Given the description of an element on the screen output the (x, y) to click on. 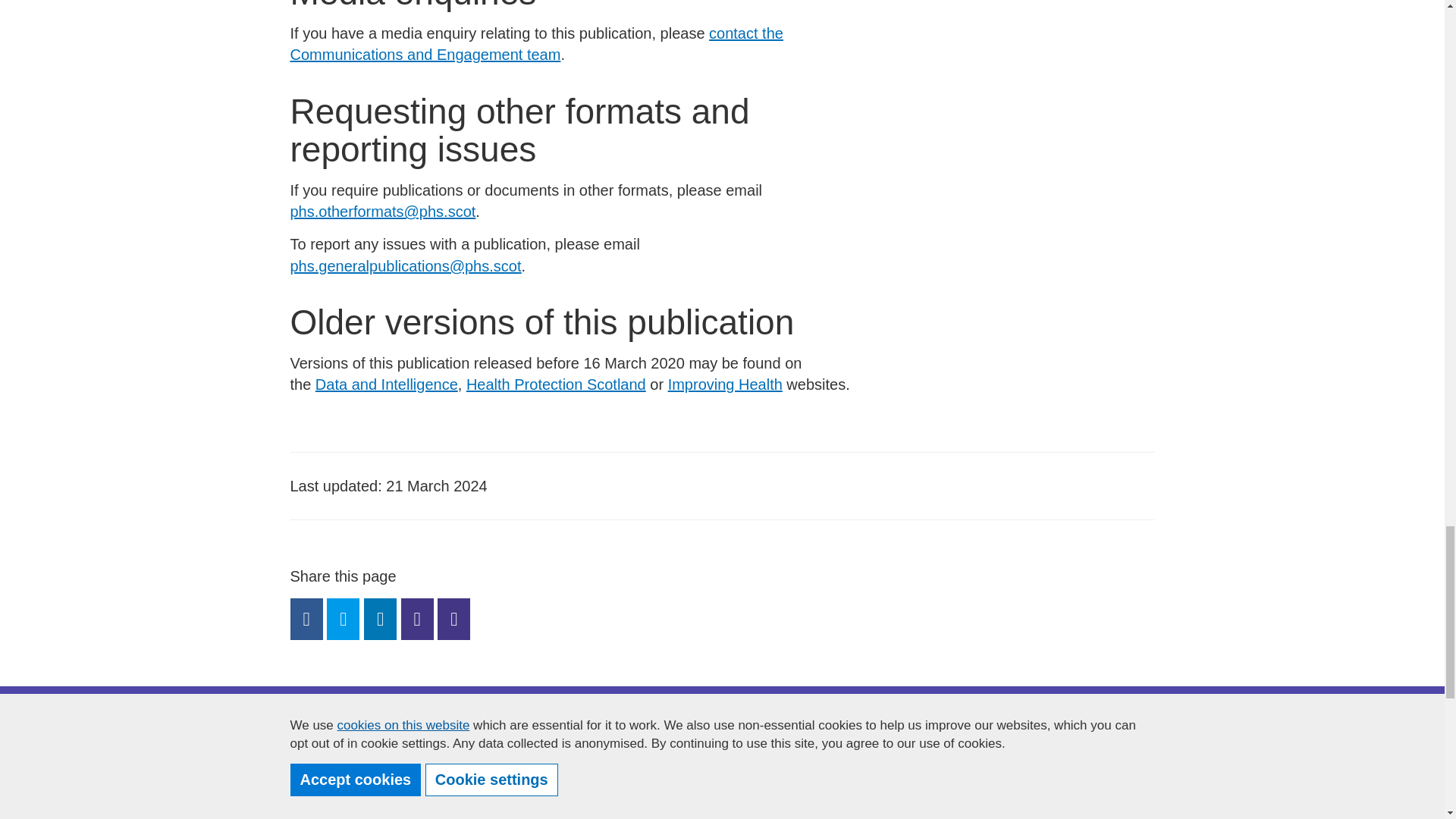
Yes (321, 768)
Media enquiries (536, 44)
Data and Intelligence (386, 384)
contact the Communications and Engagement team (536, 44)
No (321, 795)
Health Protection Scotland (555, 384)
Improving Health (725, 384)
Yes, but (321, 816)
